Given the description of an element on the screen output the (x, y) to click on. 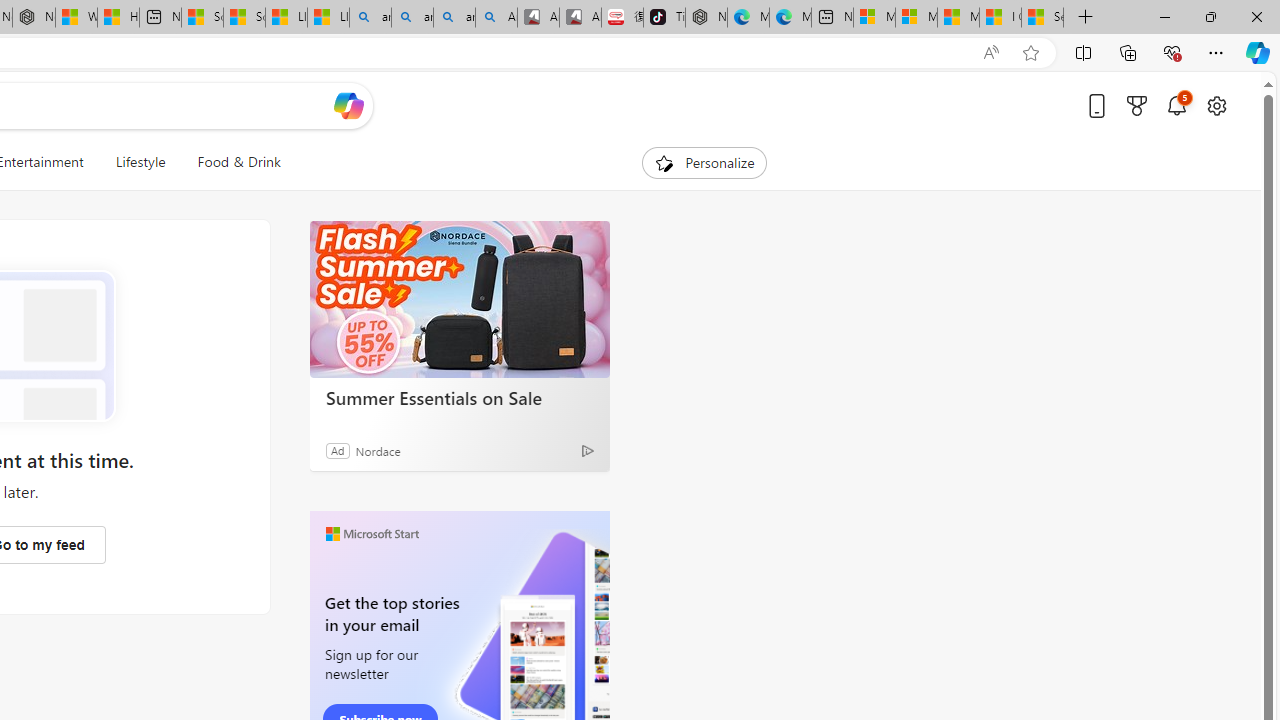
Amazon Echo Robot - Search Images (496, 17)
Lifestyle (139, 162)
Huge shark washes ashore at New York City beach | Watch (118, 17)
Food & Drink (230, 162)
Lifestyle (140, 162)
Food & Drink (239, 162)
All Cubot phones (580, 17)
Summer Essentials on Sale (459, 299)
